Given the description of an element on the screen output the (x, y) to click on. 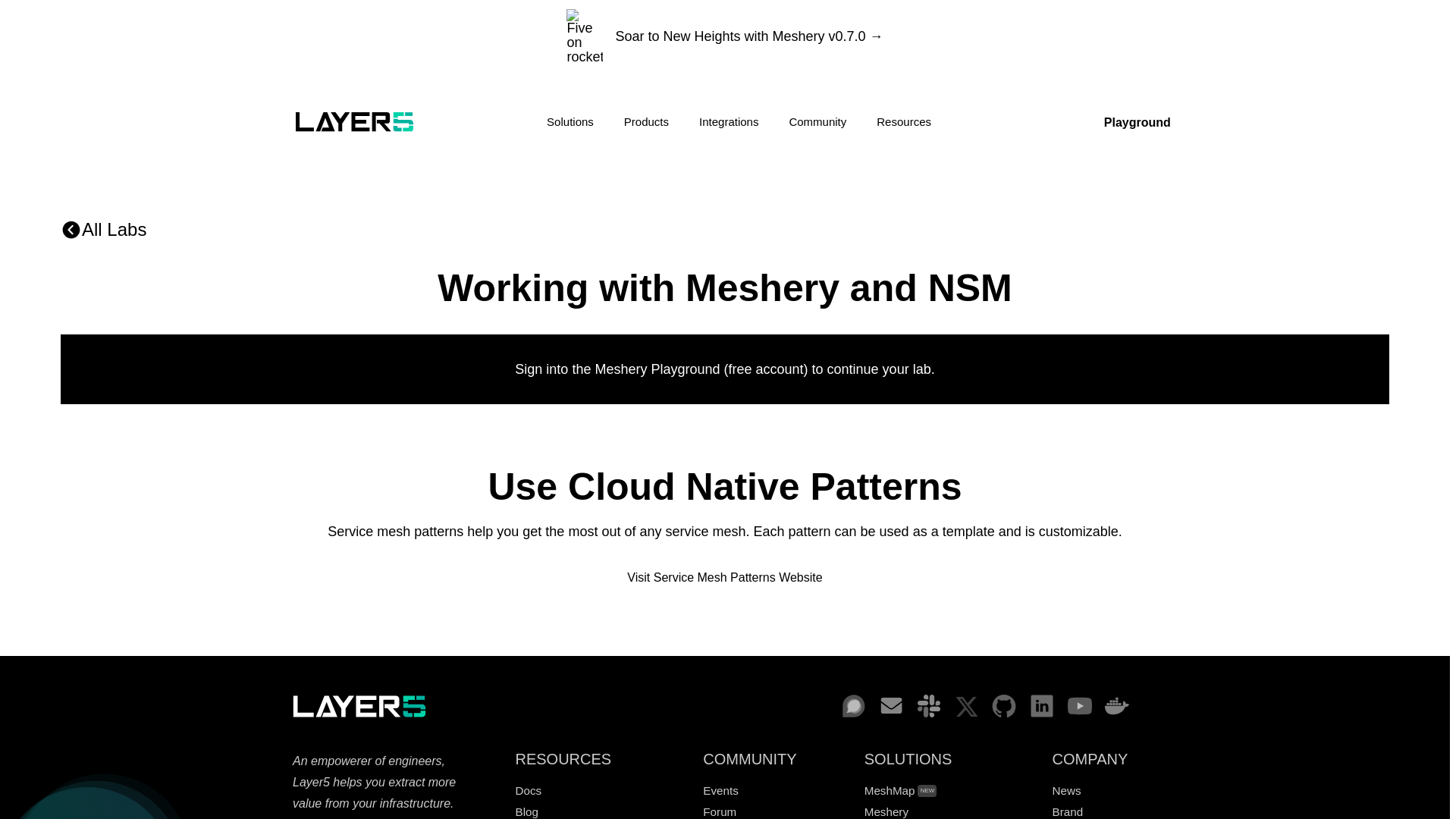
Community (817, 121)
Integrations (728, 121)
Playground (1136, 122)
Resources (903, 121)
Products (646, 121)
Visit Service Mesh Patterns website (723, 577)
Get Started (1042, 122)
Solutions (570, 121)
